Given the description of an element on the screen output the (x, y) to click on. 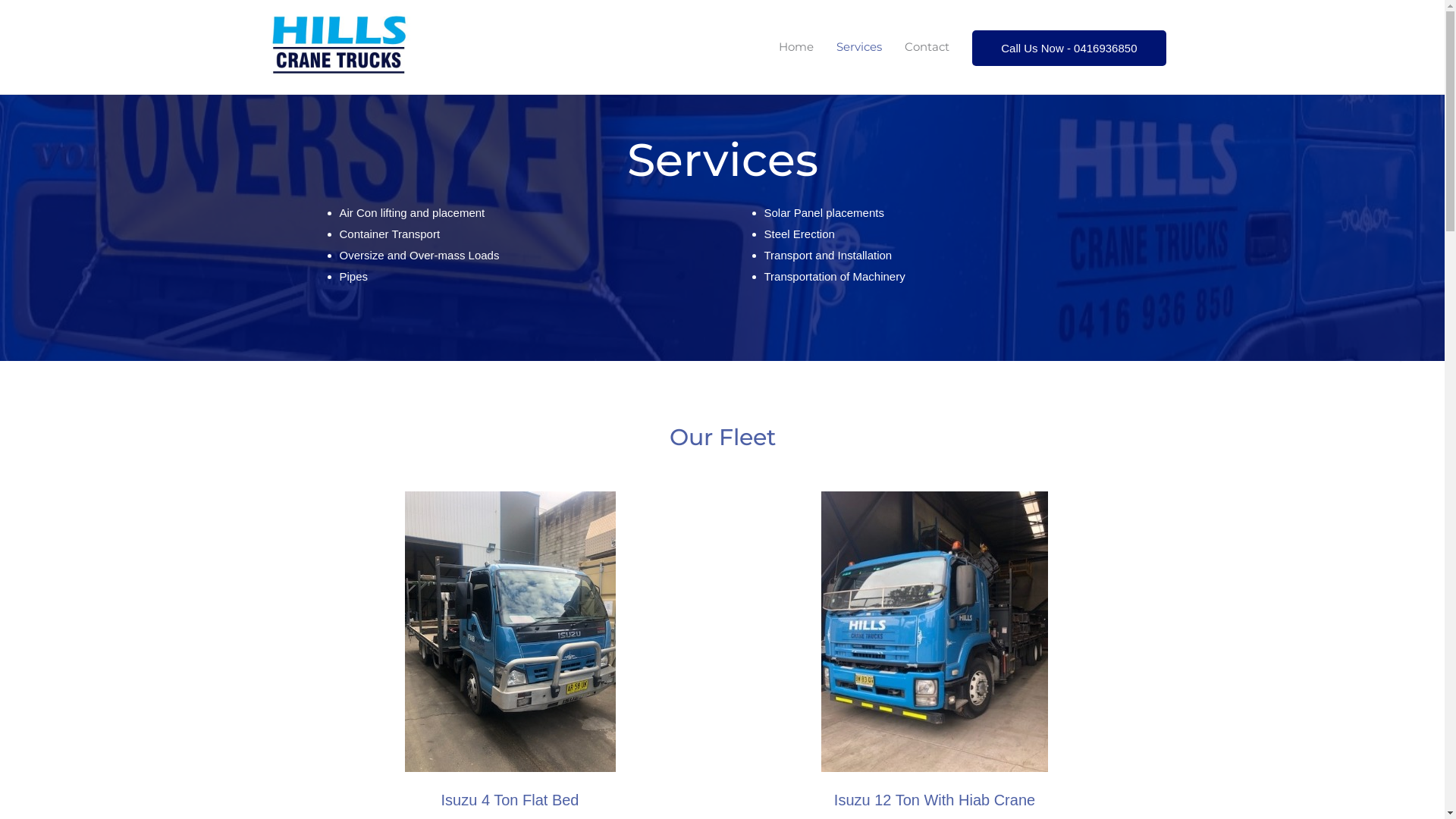
Services Element type: text (859, 46)
Contact Element type: text (926, 46)
Call Us Now - 0416936850 Element type: text (1068, 47)
Home Element type: text (796, 46)
